Given the description of an element on the screen output the (x, y) to click on. 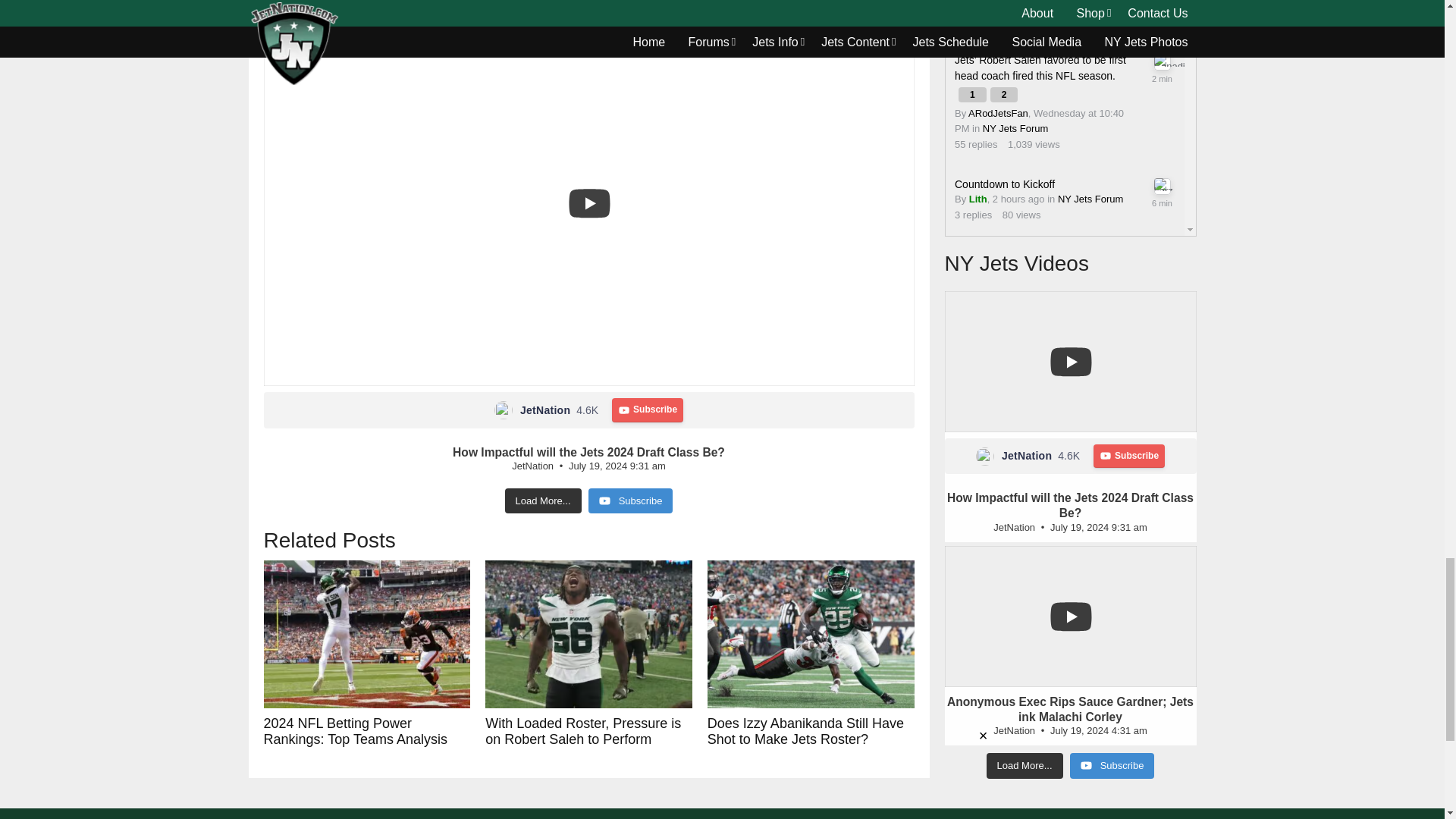
With Loaded Roster, Pressure is on Robert Saleh to Perform (588, 634)
2024 NFL Betting Power Rankings: Top Teams Analysis (366, 634)
Does Izzy Abanikanda Still Have Shot to Make Jets Roster? (810, 634)
